Given the description of an element on the screen output the (x, y) to click on. 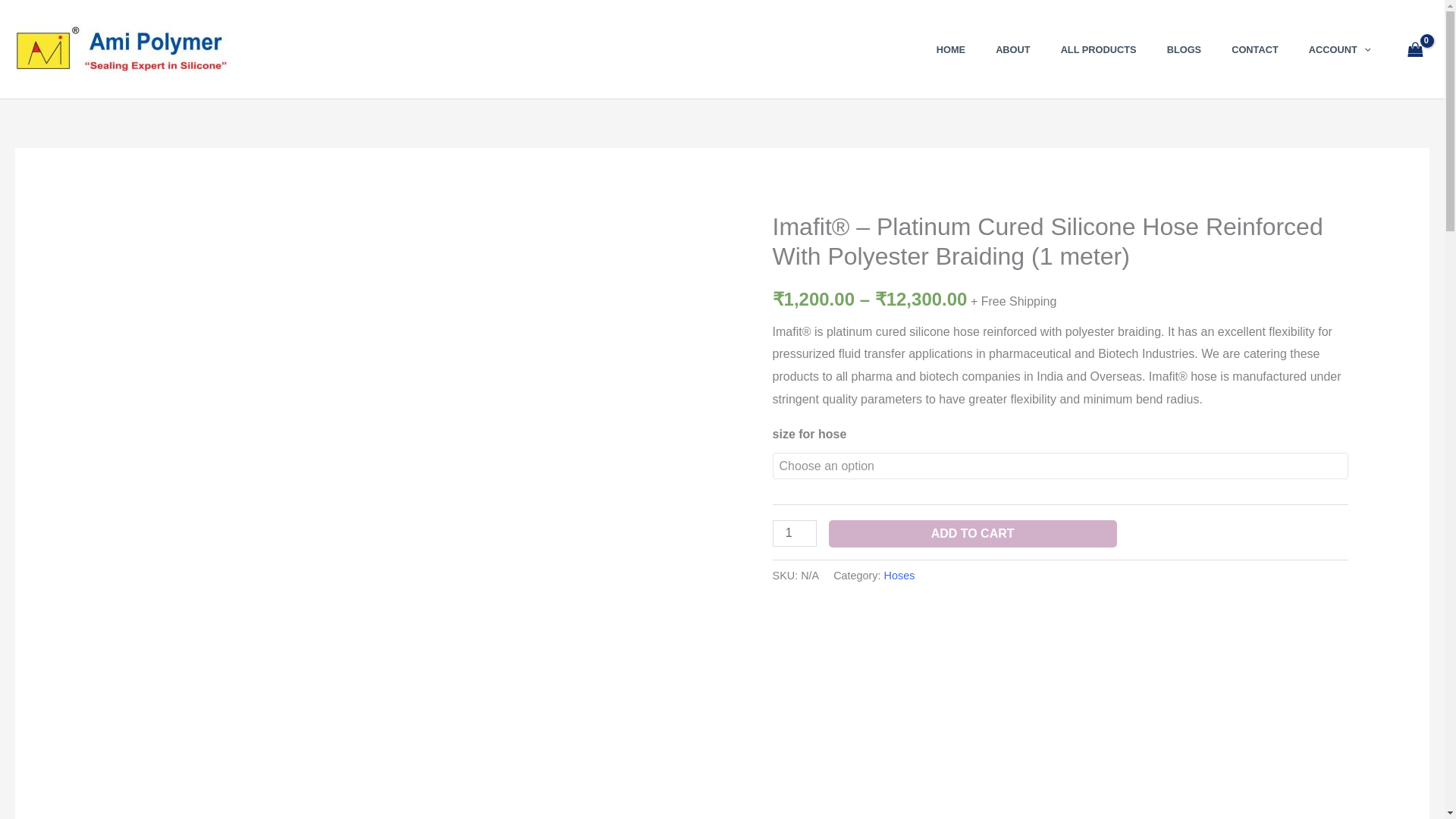
ABOUT (1012, 49)
CONTACT (1254, 49)
HOME (950, 49)
ADD TO CART (972, 533)
1 (794, 533)
ACCOUNT (1340, 49)
ALL PRODUCTS (1098, 49)
Hoses (899, 575)
BLOGS (1184, 49)
